Given the description of an element on the screen output the (x, y) to click on. 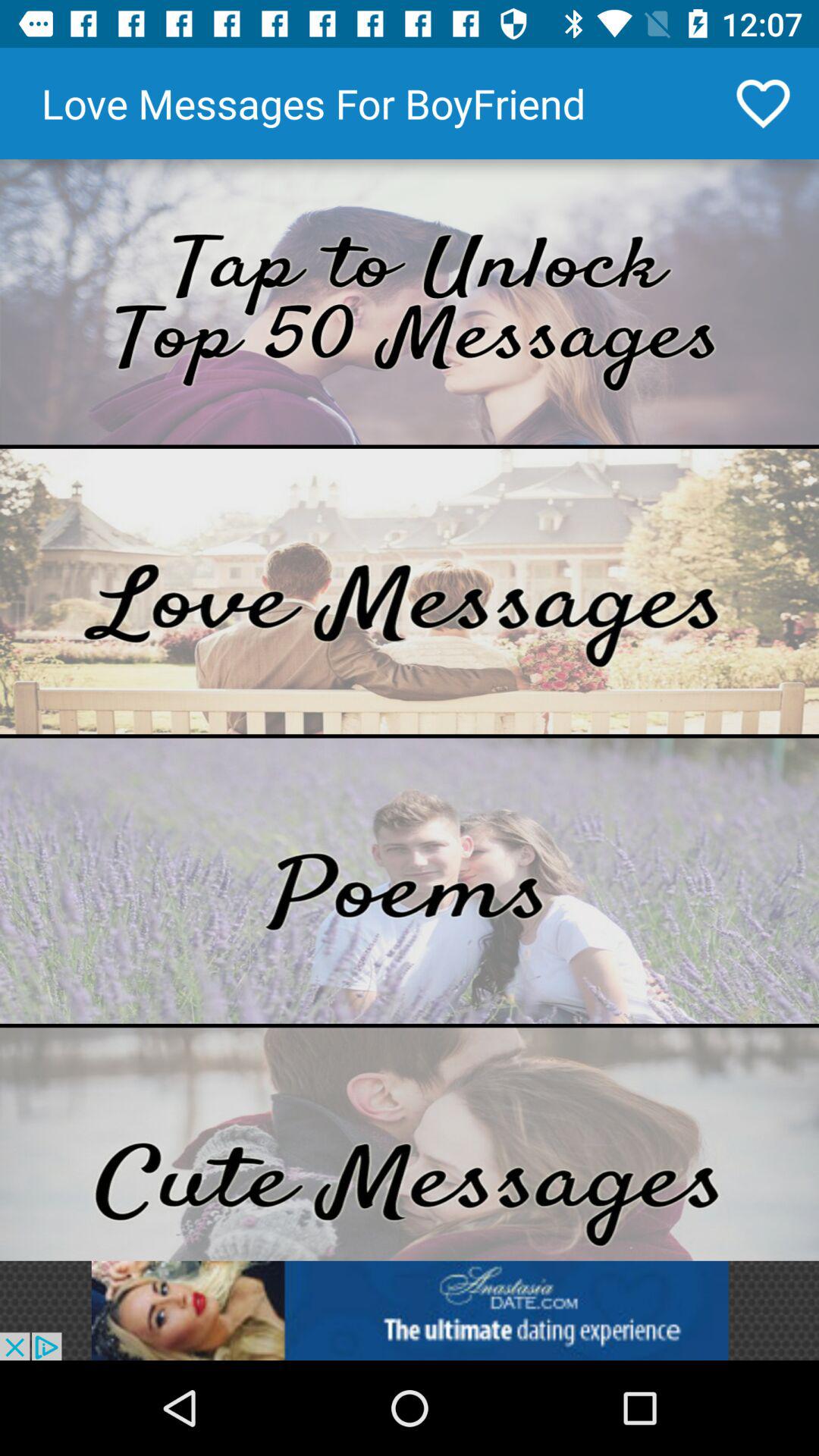
go to next page (409, 301)
